Given the description of an element on the screen output the (x, y) to click on. 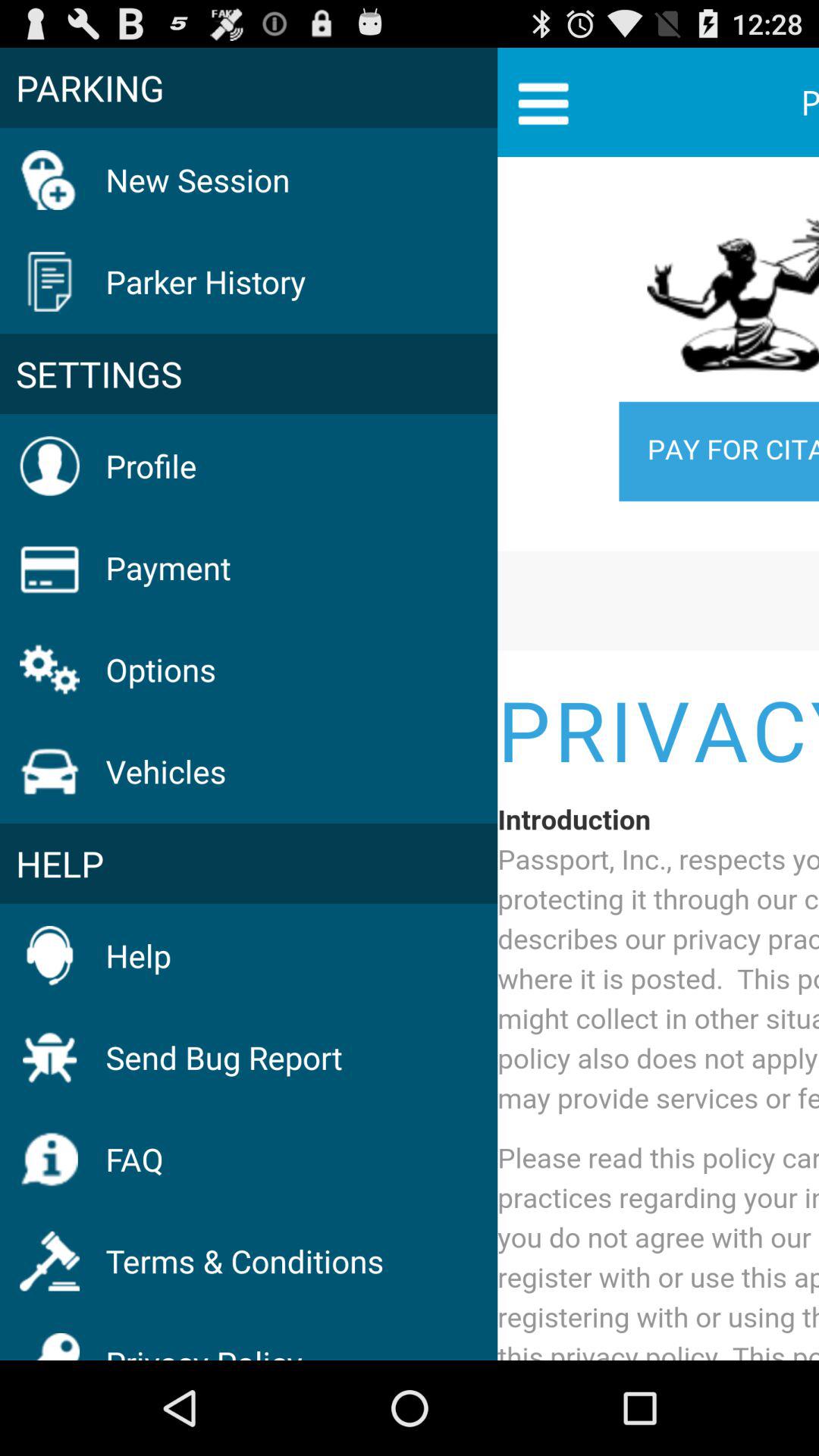
view full privacy statement (658, 760)
